Given the description of an element on the screen output the (x, y) to click on. 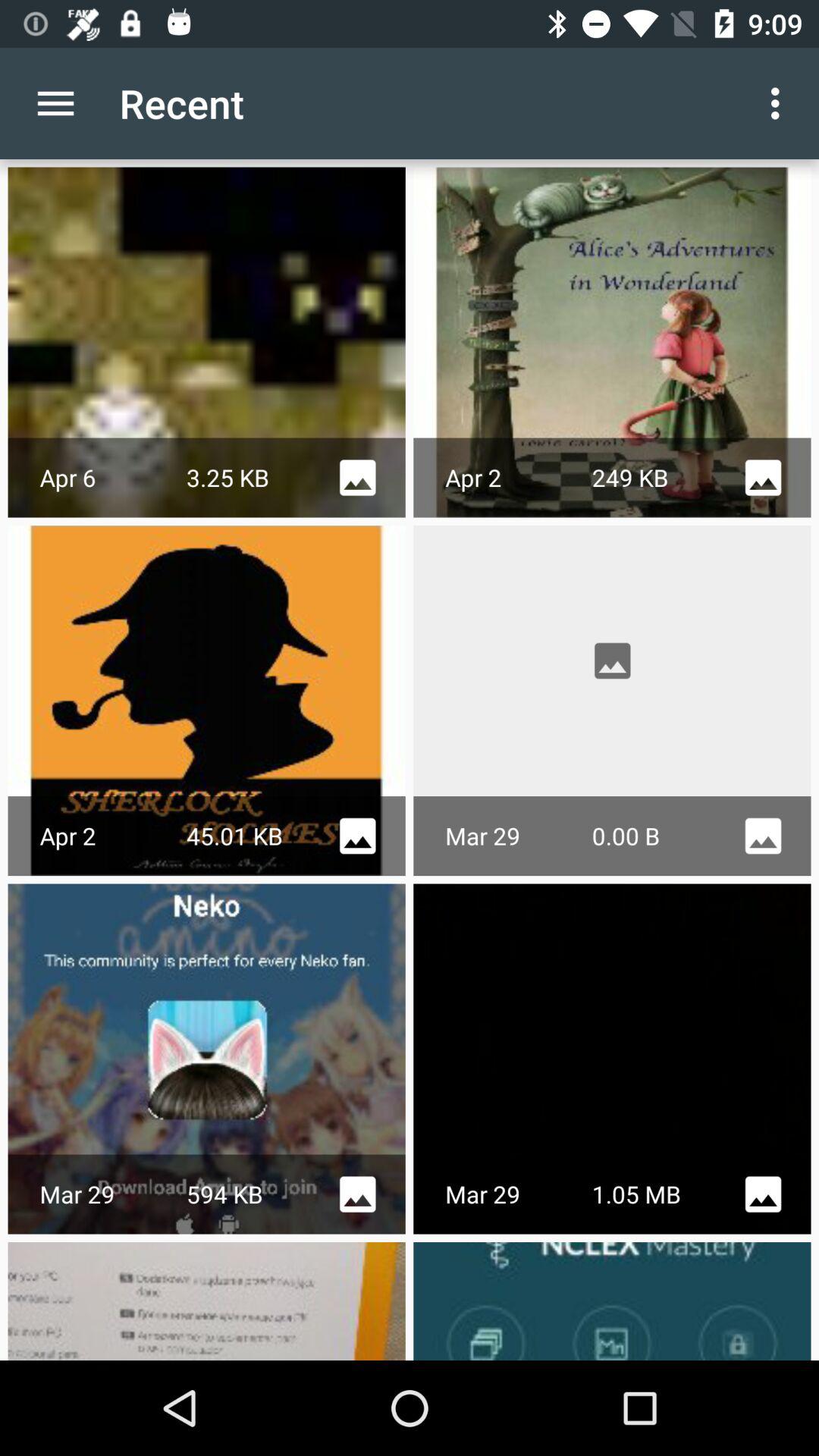
turn on the item to the left of the recent icon (55, 103)
